Given the description of an element on the screen output the (x, y) to click on. 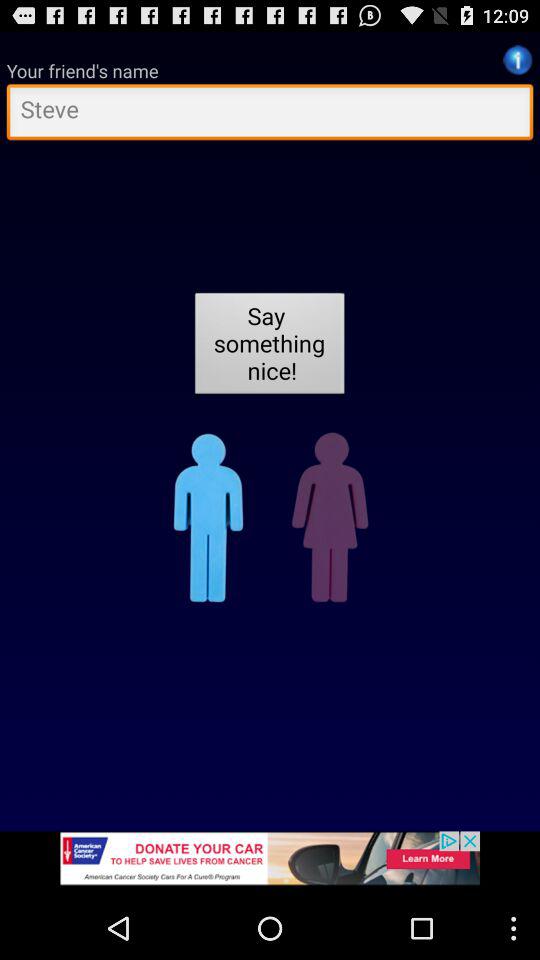
enter friend 's name (269, 113)
